Given the description of an element on the screen output the (x, y) to click on. 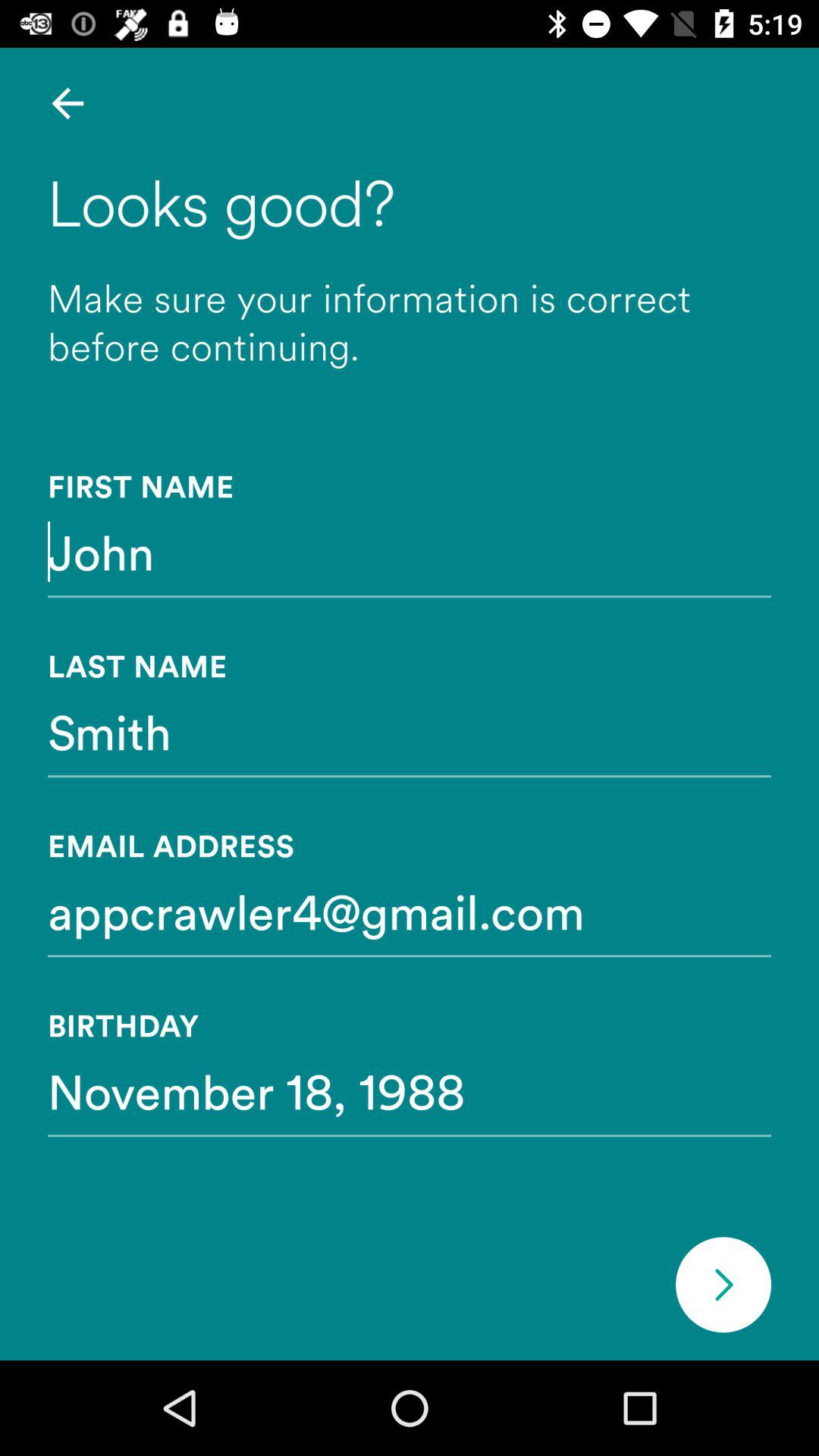
turn off the item at the bottom right corner (723, 1284)
